Given the description of an element on the screen output the (x, y) to click on. 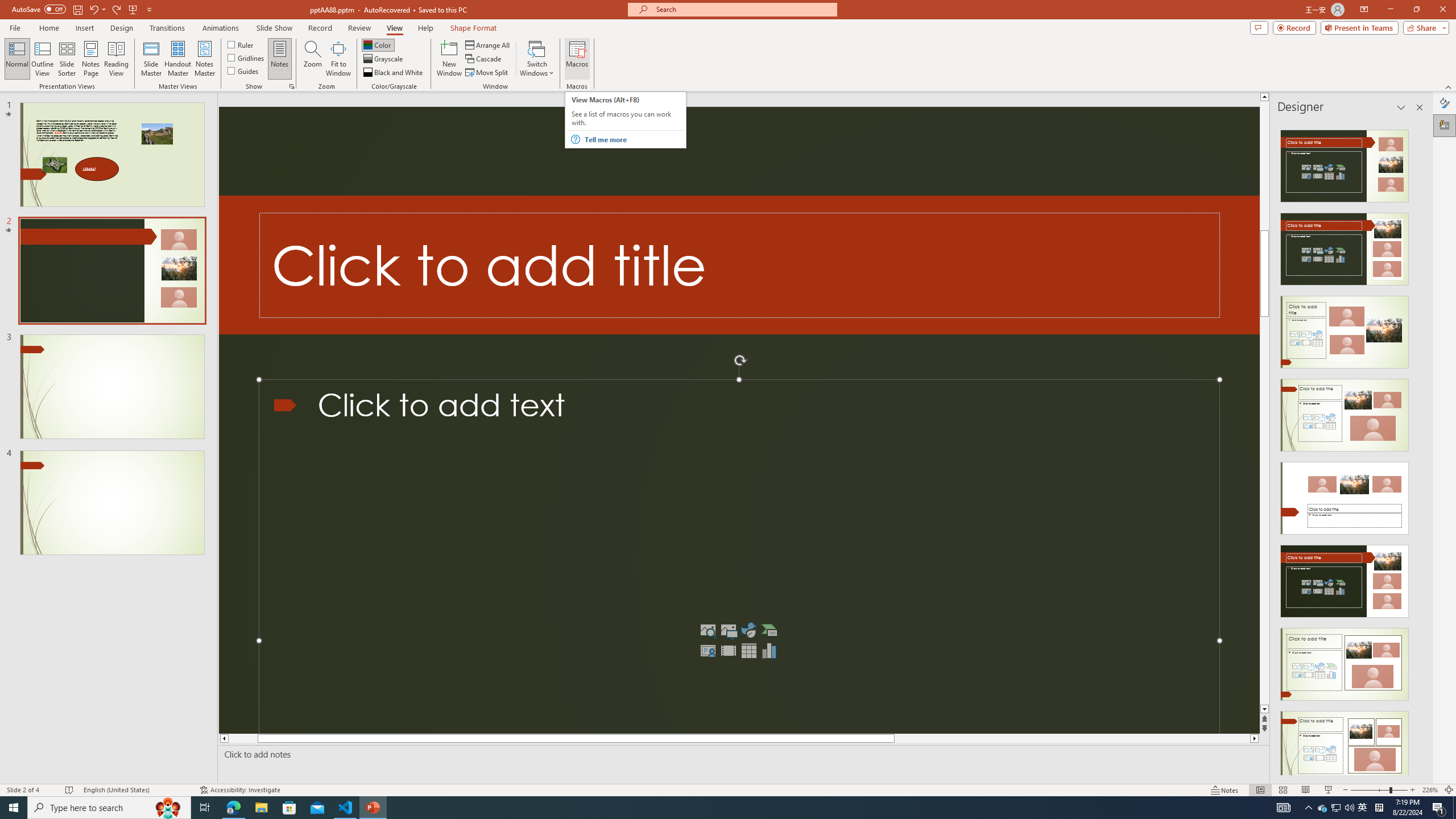
Insert a SmartArt Graphic (769, 629)
Tell me more (633, 139)
Color (377, 44)
Class: NetUIScrollBar (1418, 447)
Recommended Design: Design Idea (1344, 162)
Slide Master (151, 58)
Content Placeholder (739, 556)
Grayscale (383, 58)
